Given the description of an element on the screen output the (x, y) to click on. 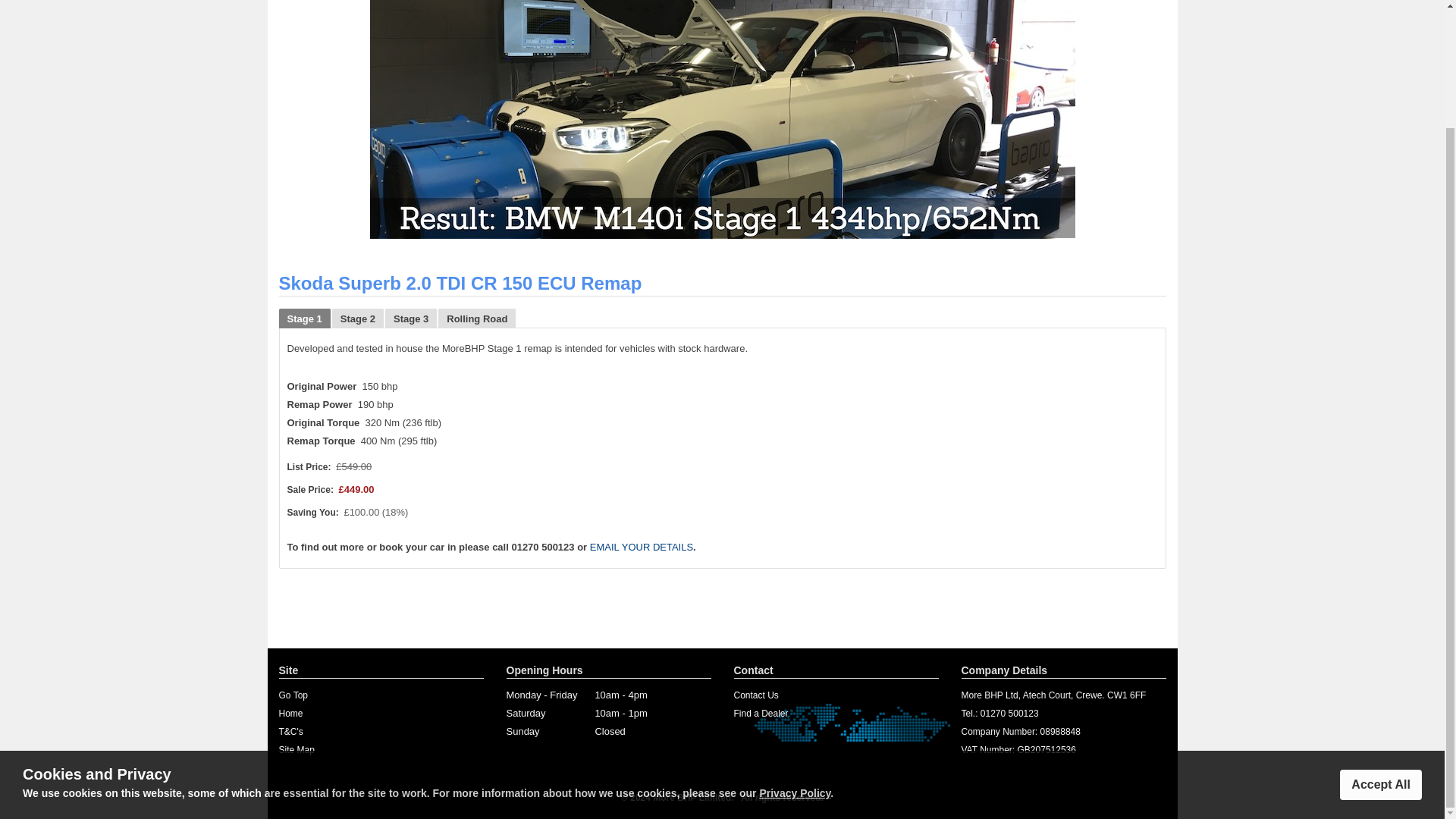
Go Top (293, 695)
Stage 2 (357, 318)
Contact Us (755, 695)
EMAIL YOUR DETAILS (641, 546)
Rolling Road (477, 318)
Site Map (296, 749)
Home (290, 713)
Find a Deale (759, 713)
Stage 1 (304, 318)
Stage 3 (410, 318)
